Given the description of an element on the screen output the (x, y) to click on. 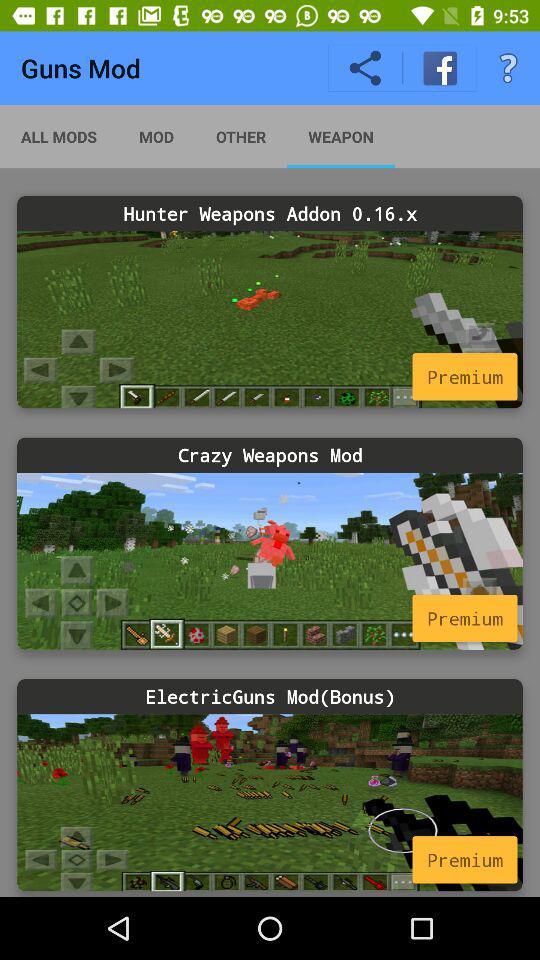
click in a more image (269, 319)
